Given the description of an element on the screen output the (x, y) to click on. 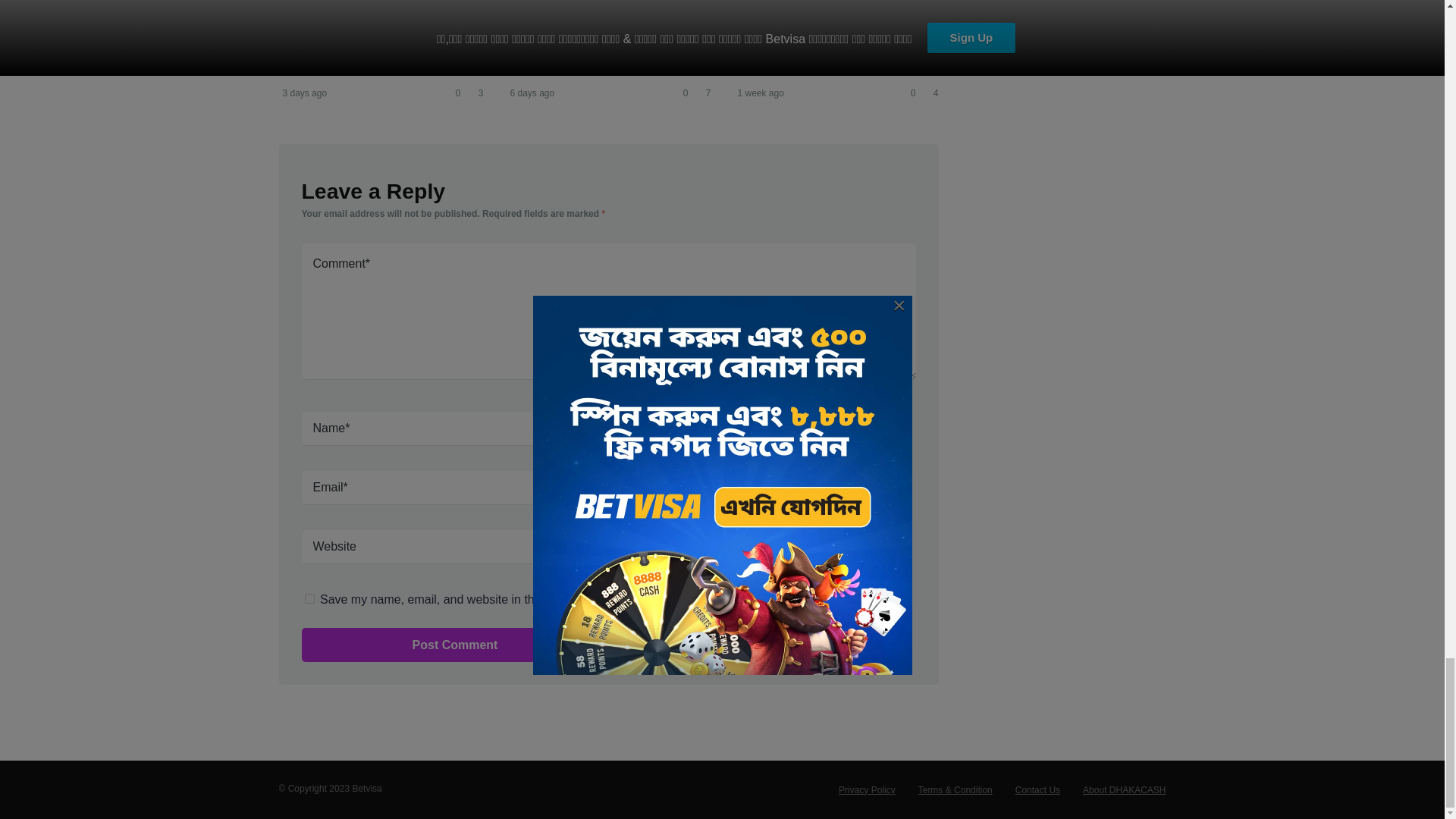
yes (309, 598)
Post Comment (454, 644)
Bluffing In Poker: Techniques For Bangladeshi Players (584, 44)
Understanding RNG: How Fair Are Online Casino Games (378, 44)
